Given the description of an element on the screen output the (x, y) to click on. 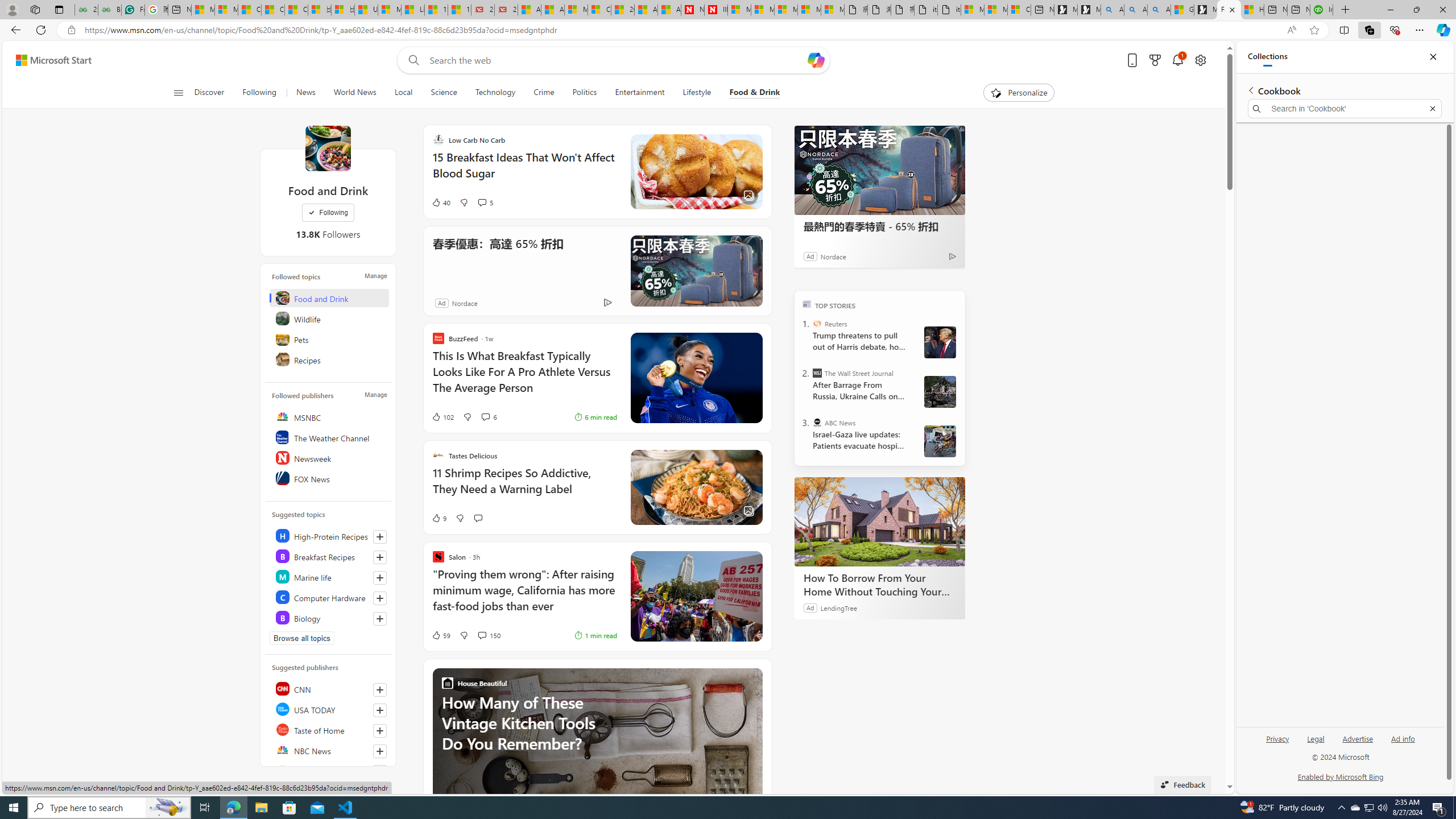
View comments 5 Comment (481, 202)
